Given the description of an element on the screen output the (x, y) to click on. 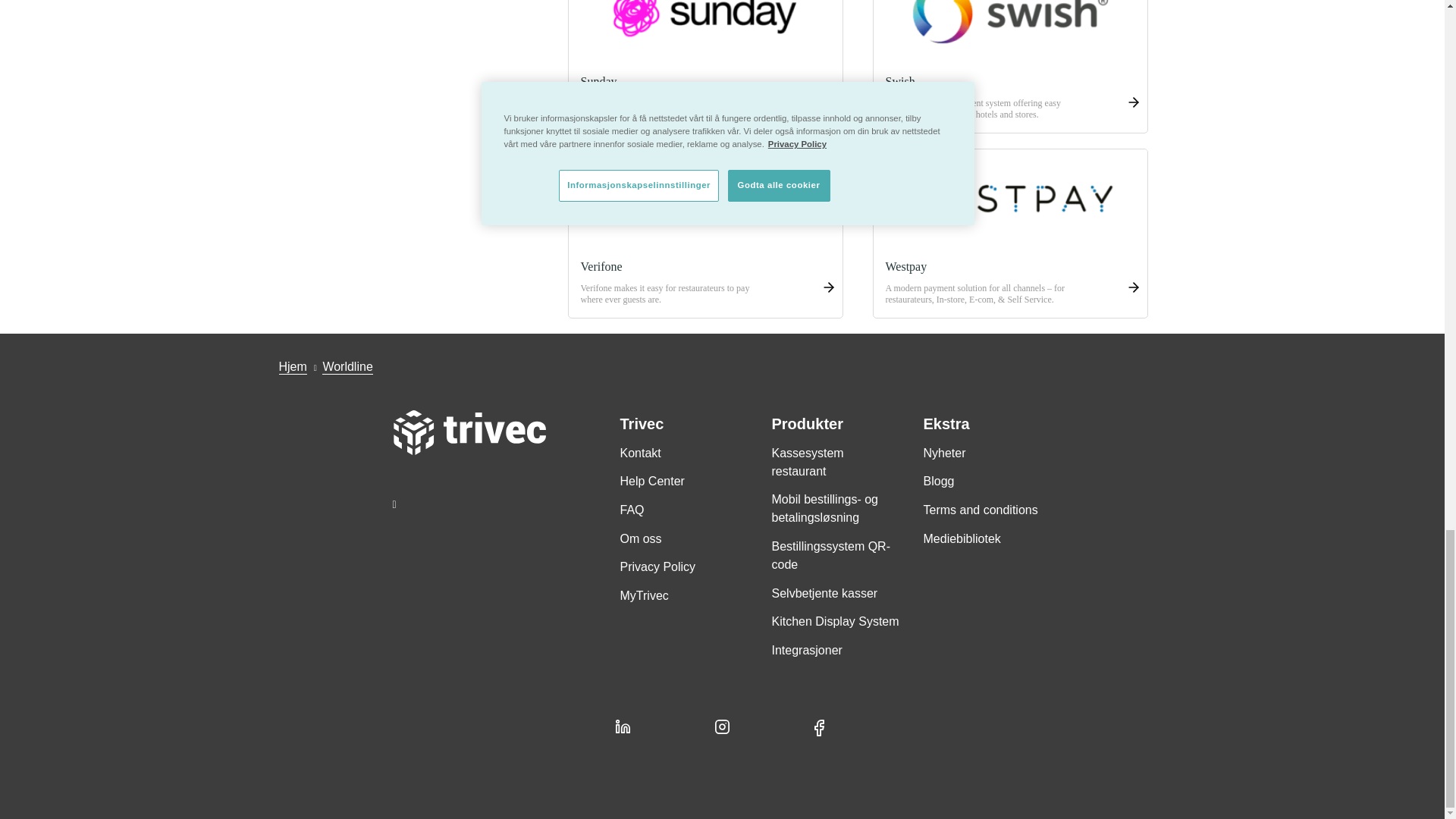
Worldline (346, 366)
Worldline (346, 366)
Hjem (293, 366)
